Given the description of an element on the screen output the (x, y) to click on. 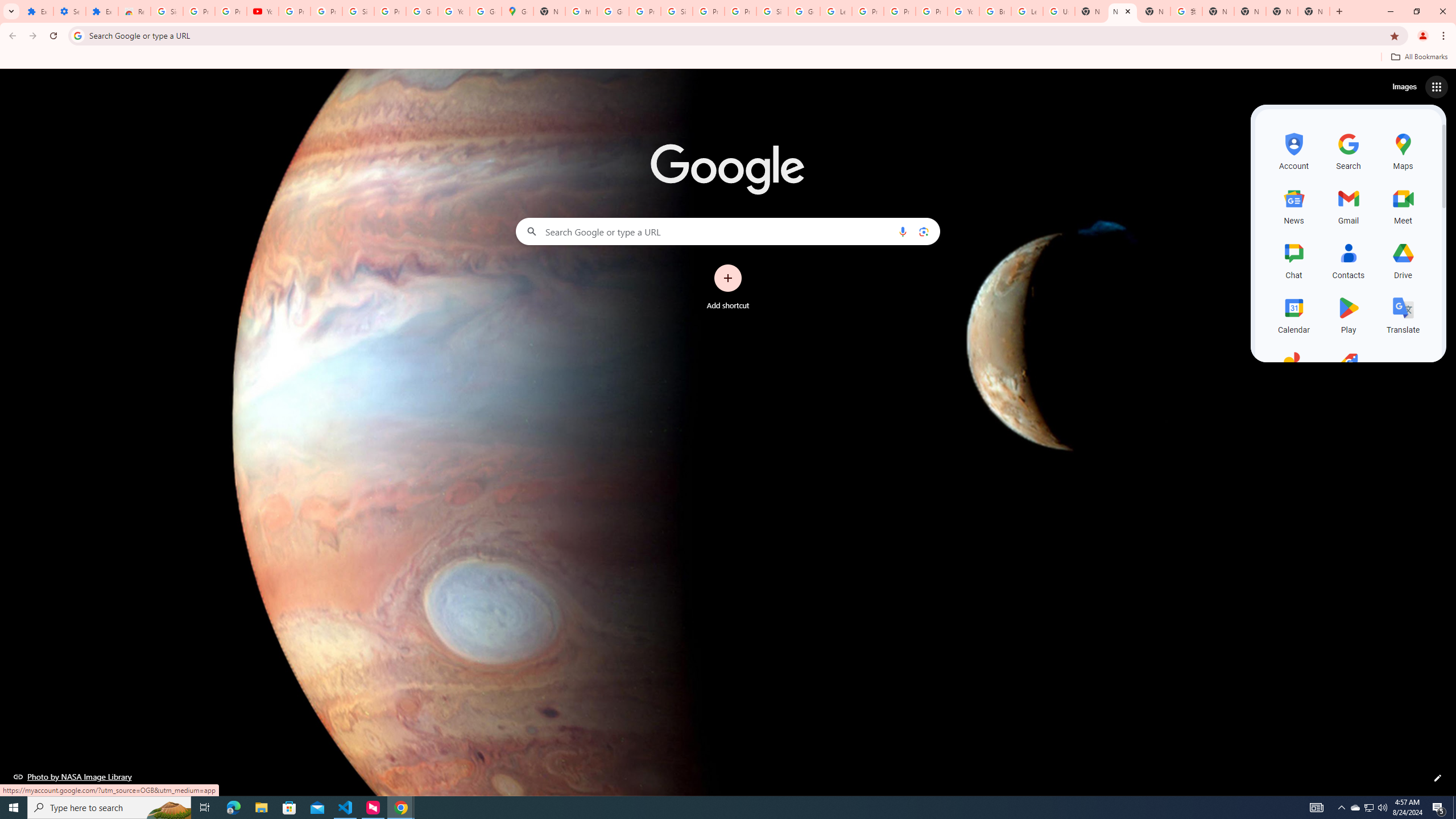
Shopping, row 5 of 5 and column 2 of 3 in the first section (1348, 368)
Reviews: Helix Fruit Jump Arcade Game (134, 11)
News, row 2 of 5 and column 1 of 3 in the first section (1293, 204)
Photo by NASA Image Library (72, 776)
Extensions (37, 11)
Calendar, row 4 of 5 and column 1 of 3 in the first section (1293, 313)
